Given the description of an element on the screen output the (x, y) to click on. 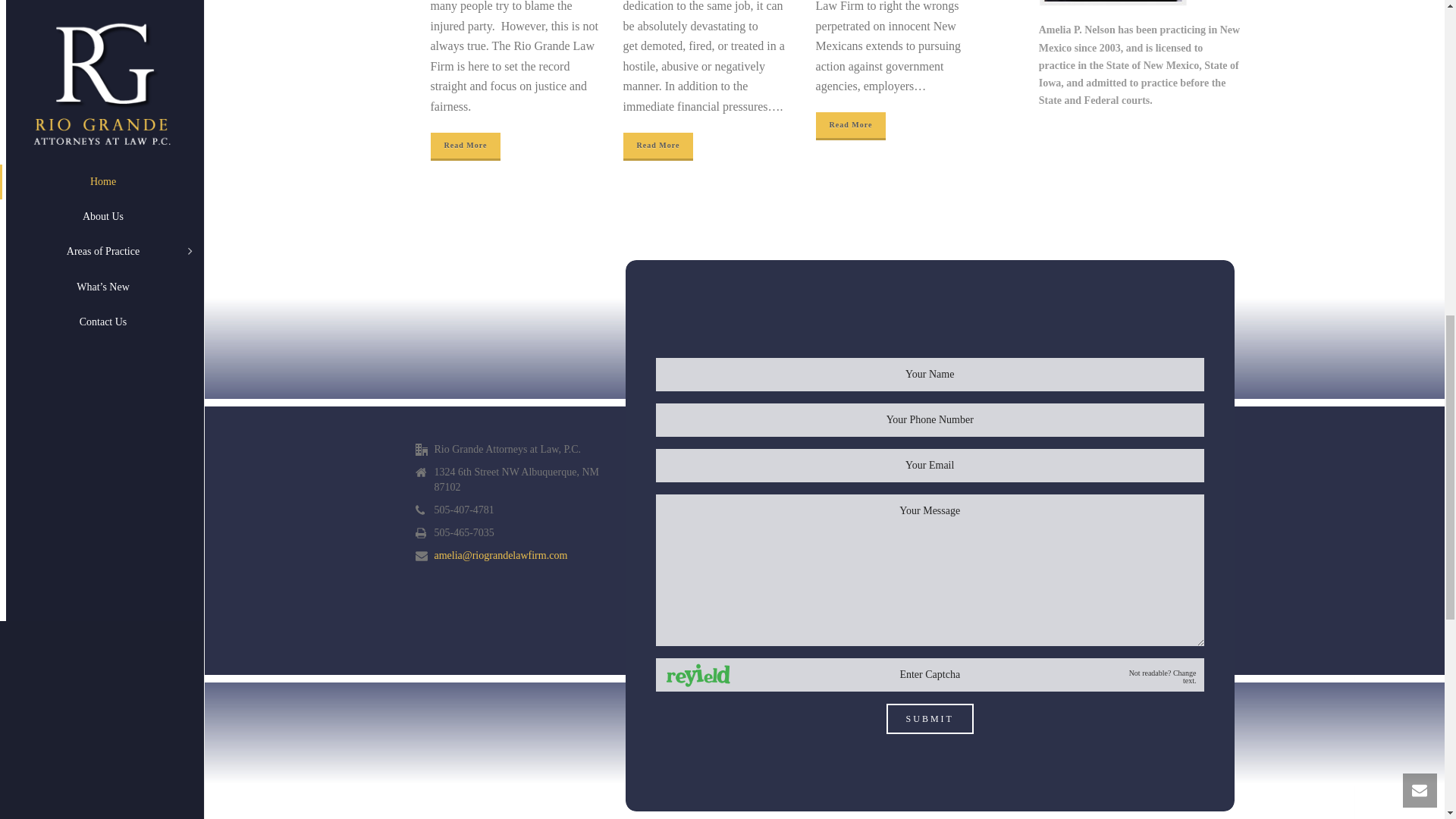
Read More (658, 145)
Read More (850, 125)
Read More (465, 145)
Read More (465, 145)
